Given the description of an element on the screen output the (x, y) to click on. 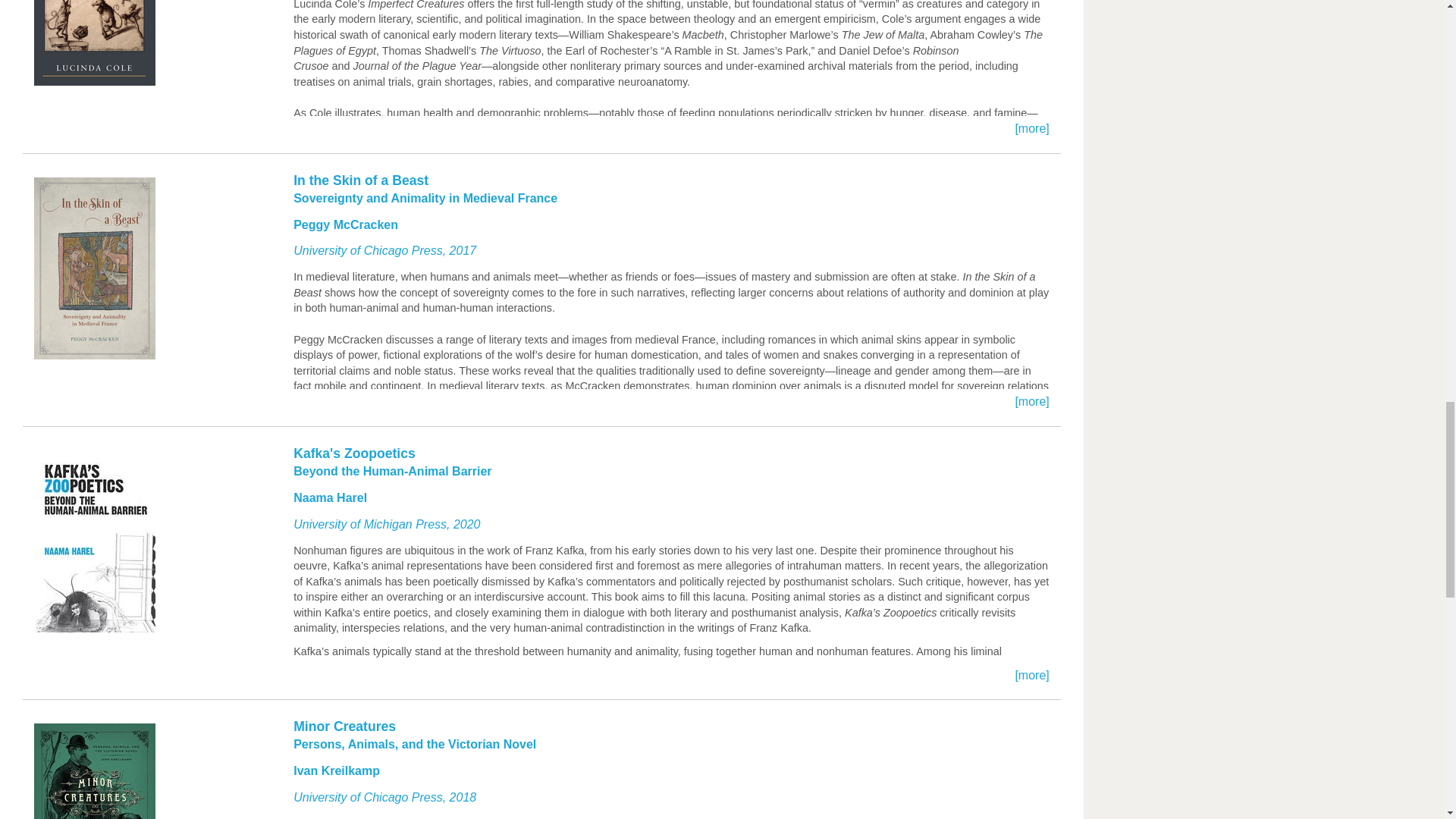
See more information about this book (541, 768)
